Given the description of an element on the screen output the (x, y) to click on. 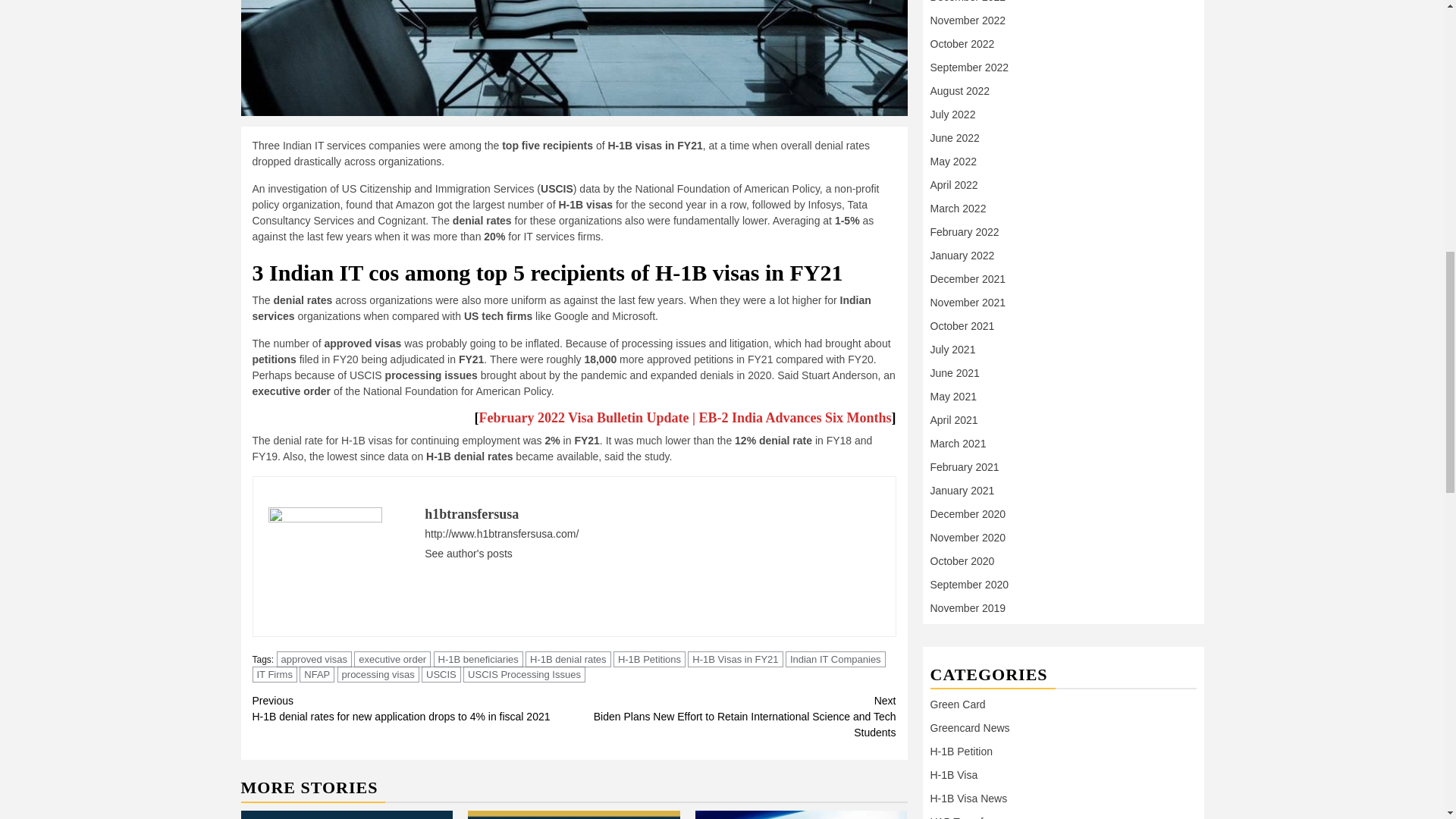
approved visas (314, 659)
processing visas (378, 674)
h1btransfersusa (471, 513)
H-1B Petitions (648, 659)
USCIS Processing Issues (524, 674)
H-1B Visas in FY21 (735, 659)
USCIS (441, 674)
H-1B beneficiaries (477, 659)
IT Firms (274, 674)
H-1B denial rates (567, 659)
Indian IT Companies (835, 659)
NFAP (316, 674)
See author's posts (468, 553)
executive order (391, 659)
